Given the description of an element on the screen output the (x, y) to click on. 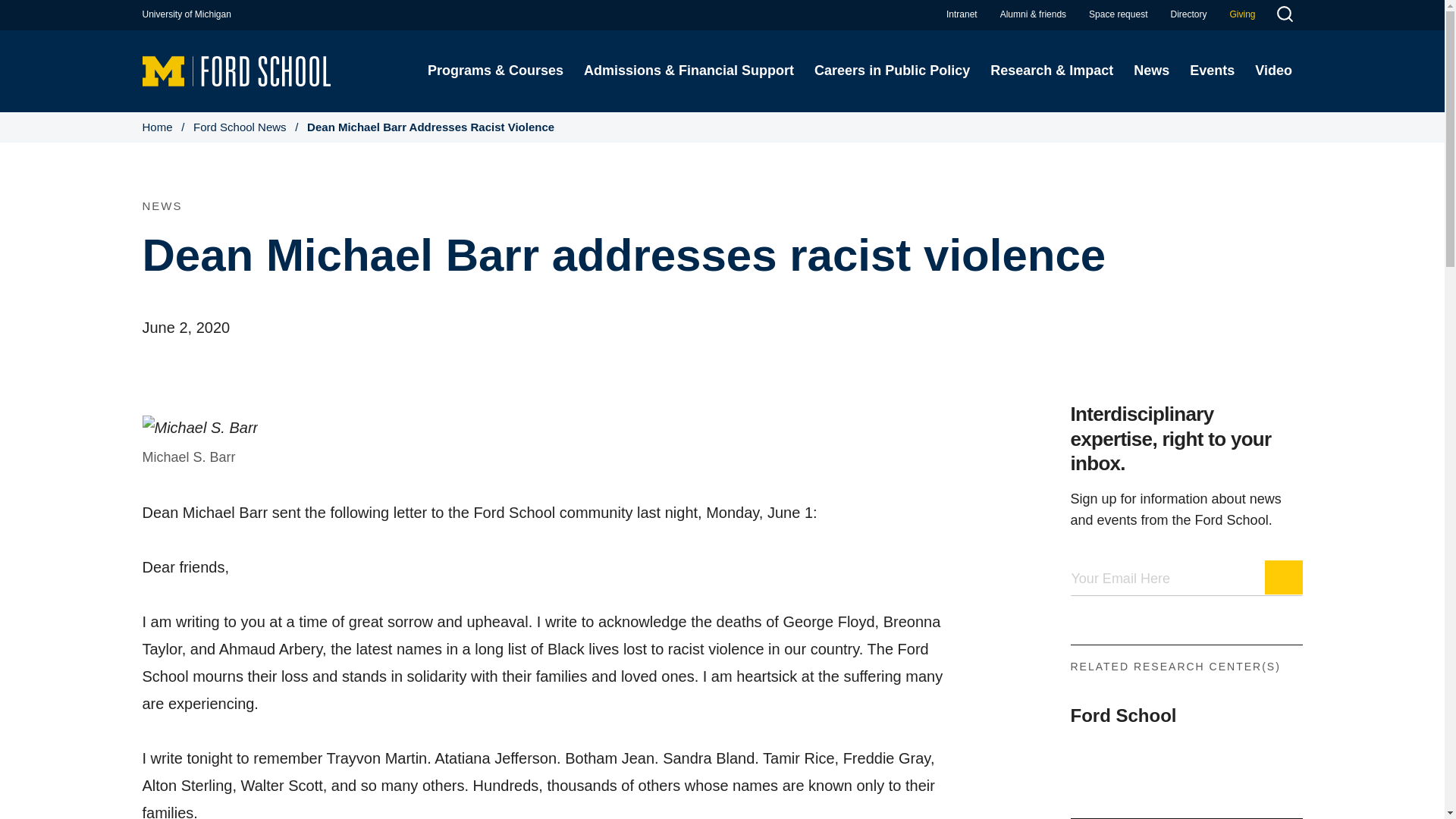
Directory (1188, 14)
Ford School academic program and course information (494, 71)
University of Michigan (186, 14)
Space request (1118, 14)
Subscribe (1284, 577)
Ford School faculty, staff, and student contacts (1188, 14)
Home (236, 69)
A connected community to each other, and to the world (1032, 14)
Intranet (961, 14)
